Given the description of an element on the screen output the (x, y) to click on. 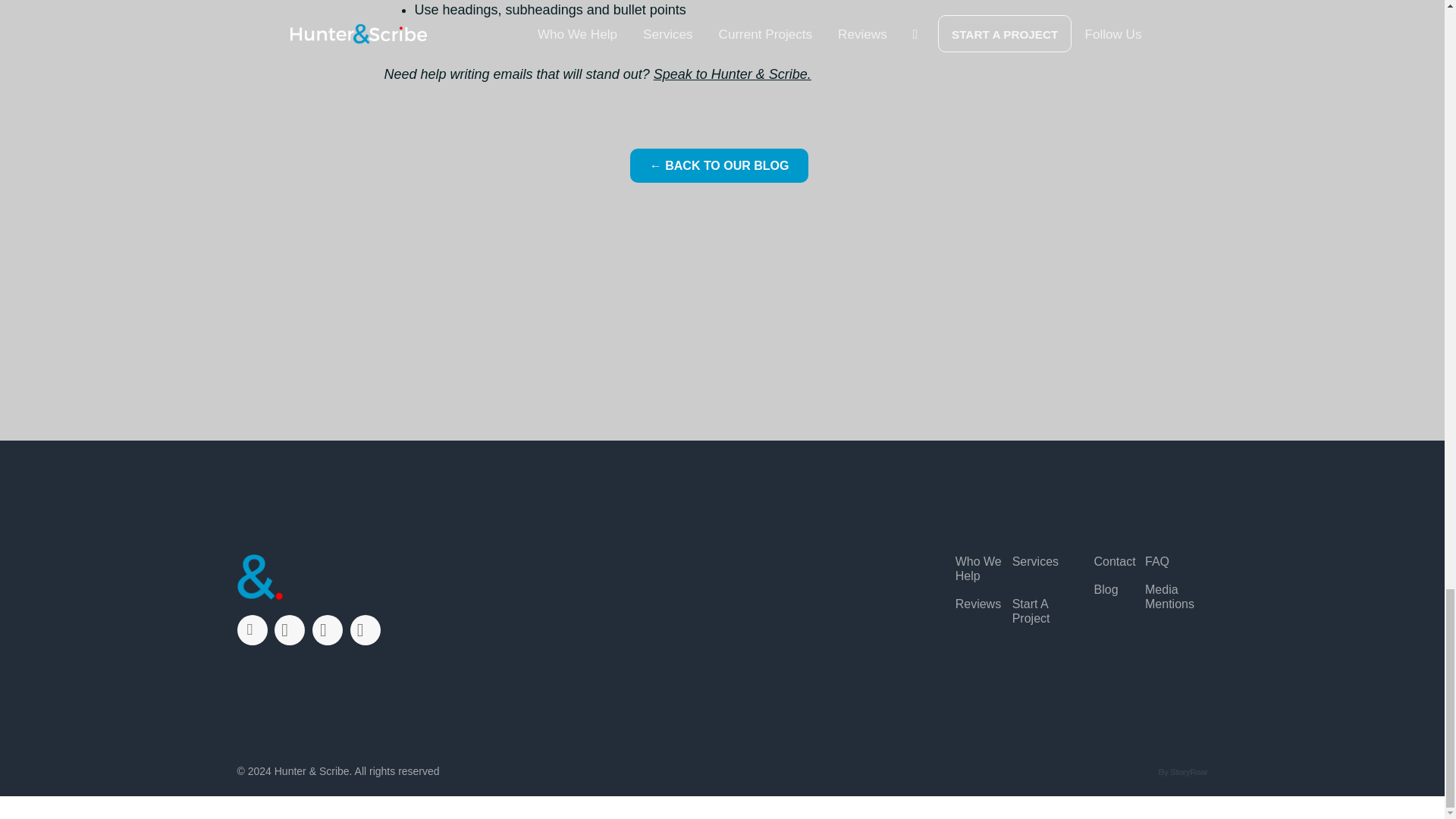
Contact (1114, 561)
Who We Help (983, 568)
Start A Project (1039, 611)
Blog (1105, 589)
Media Mentions (1170, 596)
Reviews (978, 603)
By StoryRoar (1182, 771)
FAQ (1156, 561)
Services (1034, 561)
